Given the description of an element on the screen output the (x, y) to click on. 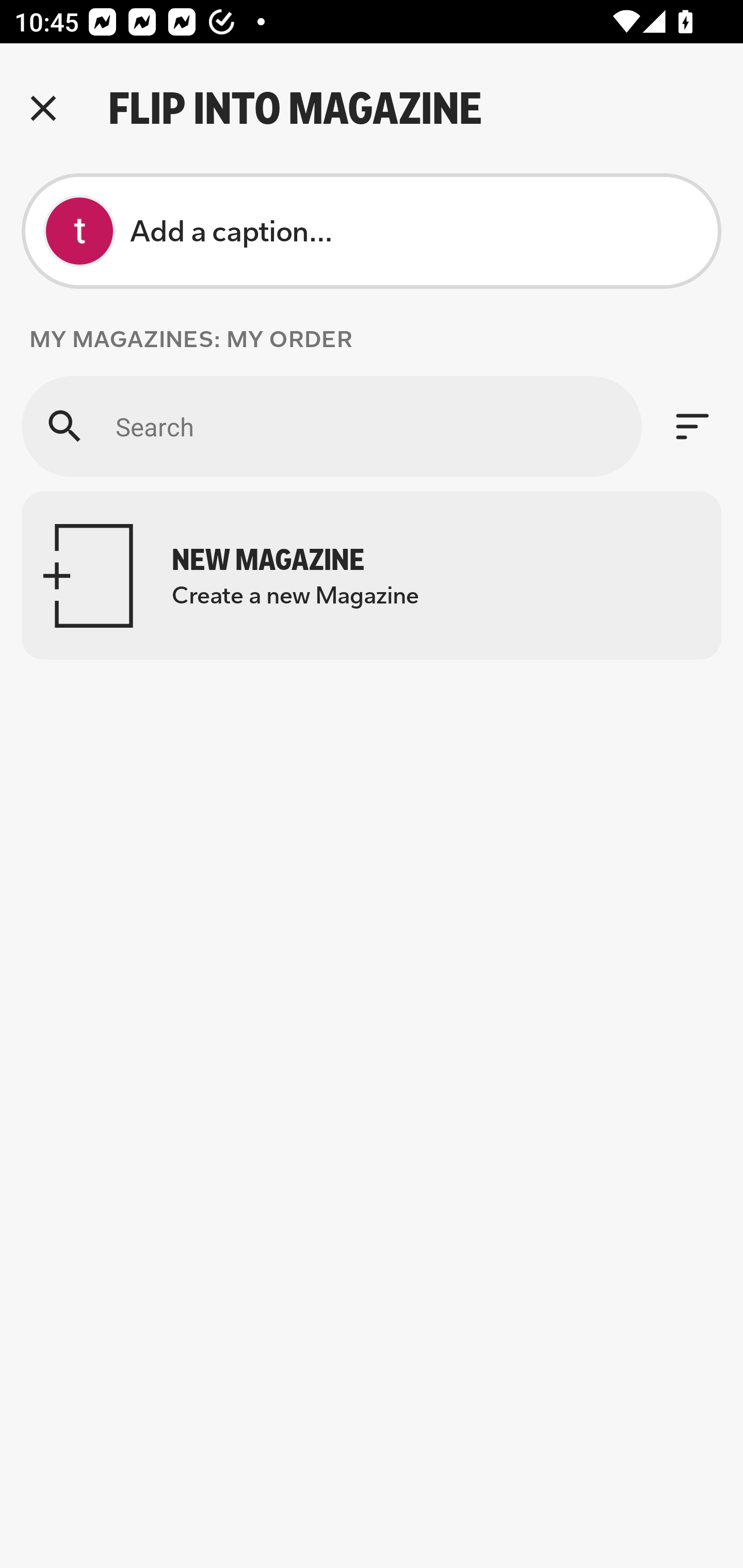
test appium Add a caption… (371, 231)
Search (331, 426)
NEW MAGAZINE Create a new Magazine (371, 575)
